Given the description of an element on the screen output the (x, y) to click on. 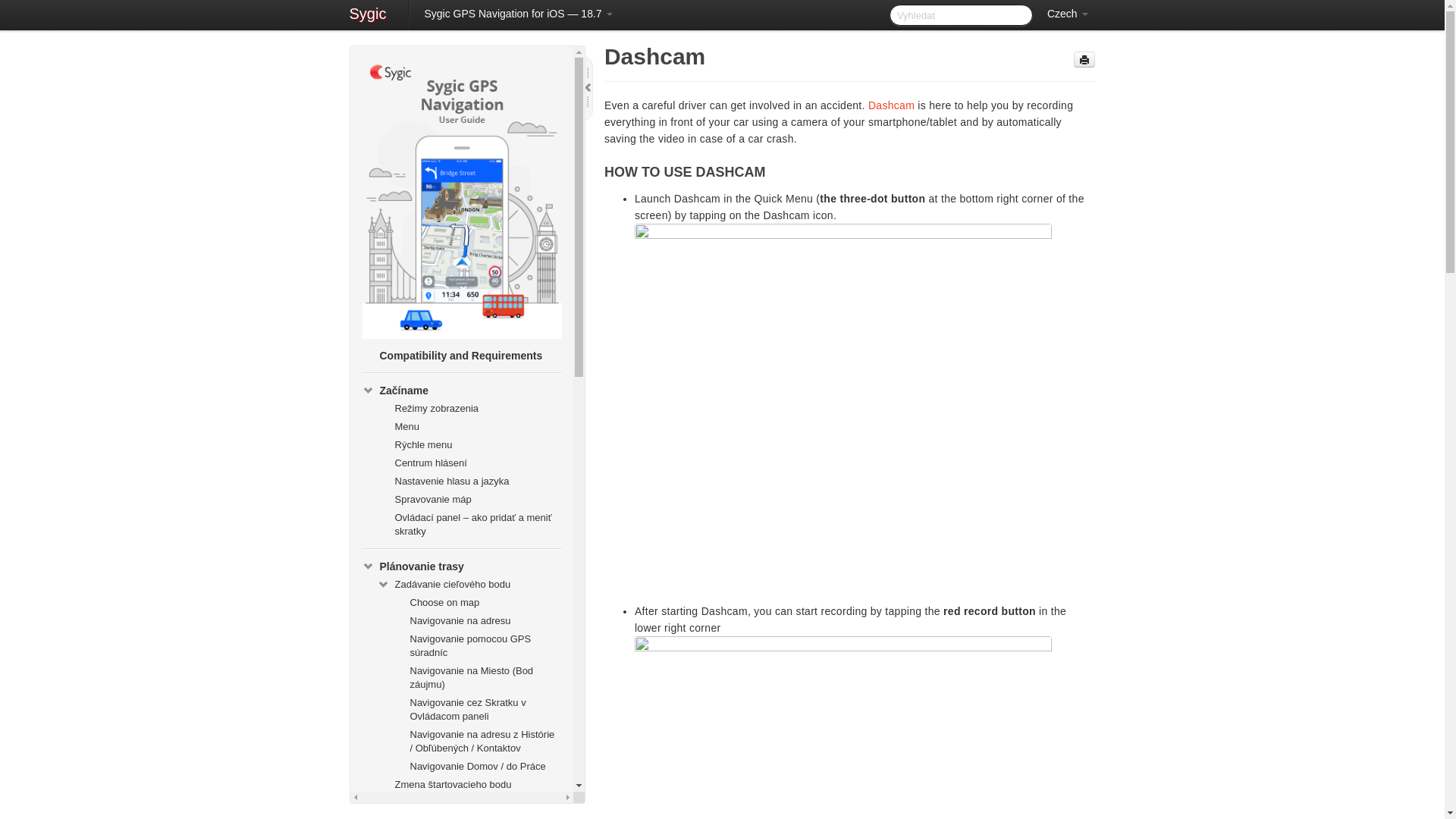
Sygic (367, 15)
Czech (1067, 14)
